Given the description of an element on the screen output the (x, y) to click on. 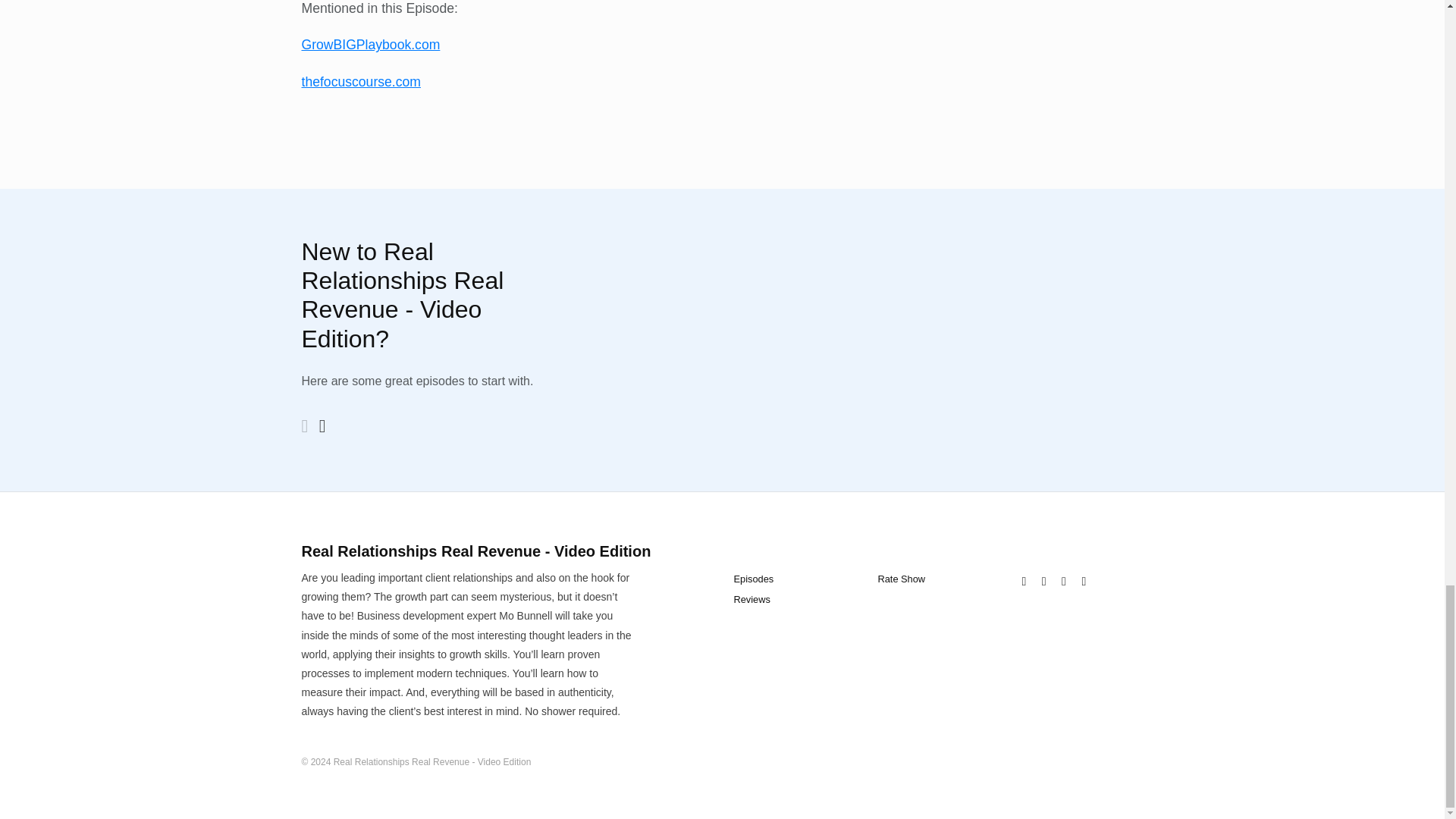
GrowBIGPlaybook.com (371, 44)
thefocuscourse.com (360, 81)
